Given the description of an element on the screen output the (x, y) to click on. 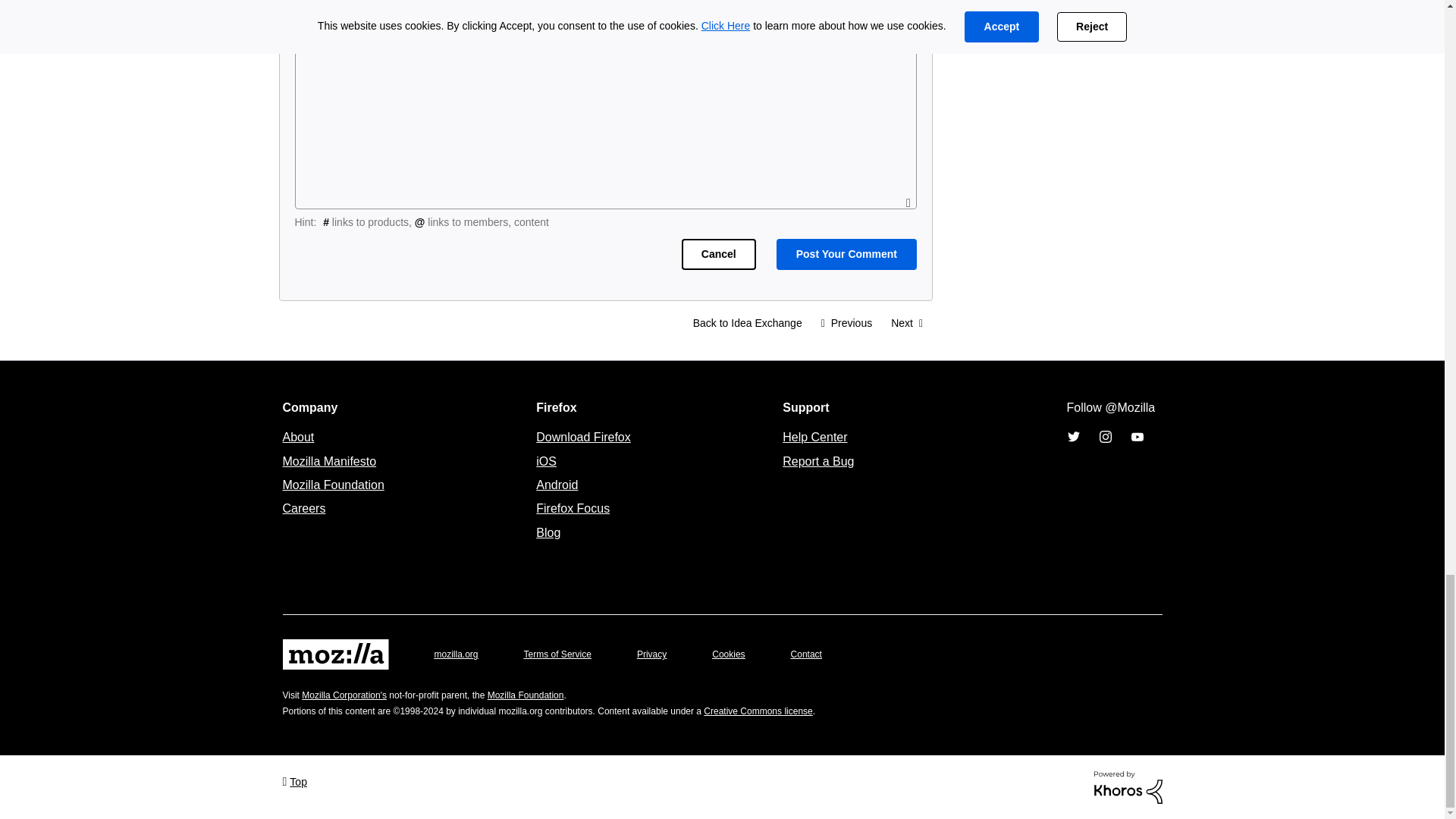
Post Your Comment (846, 254)
Top (293, 780)
Top (293, 780)
Cancel (718, 254)
